Given the description of an element on the screen output the (x, y) to click on. 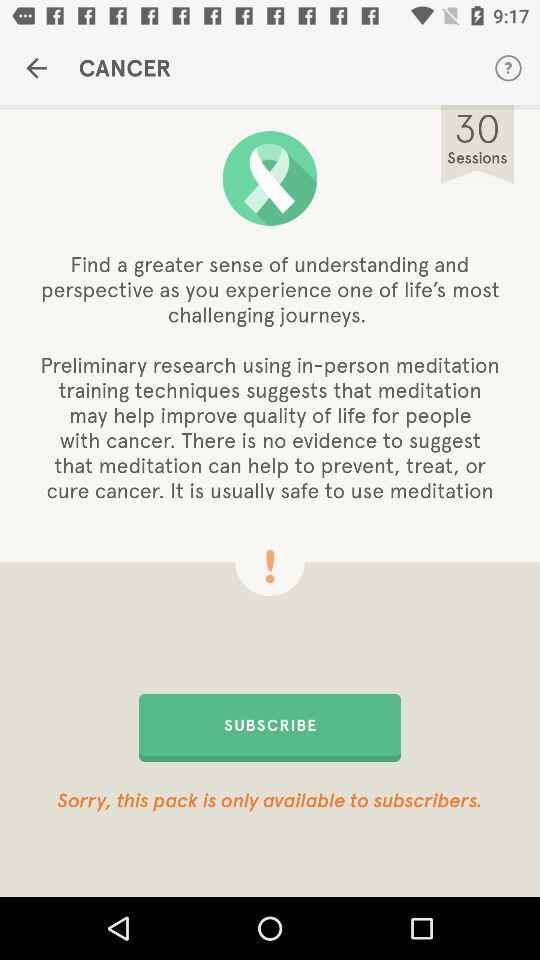
turn on the item next to cancer item (36, 68)
